Given the description of an element on the screen output the (x, y) to click on. 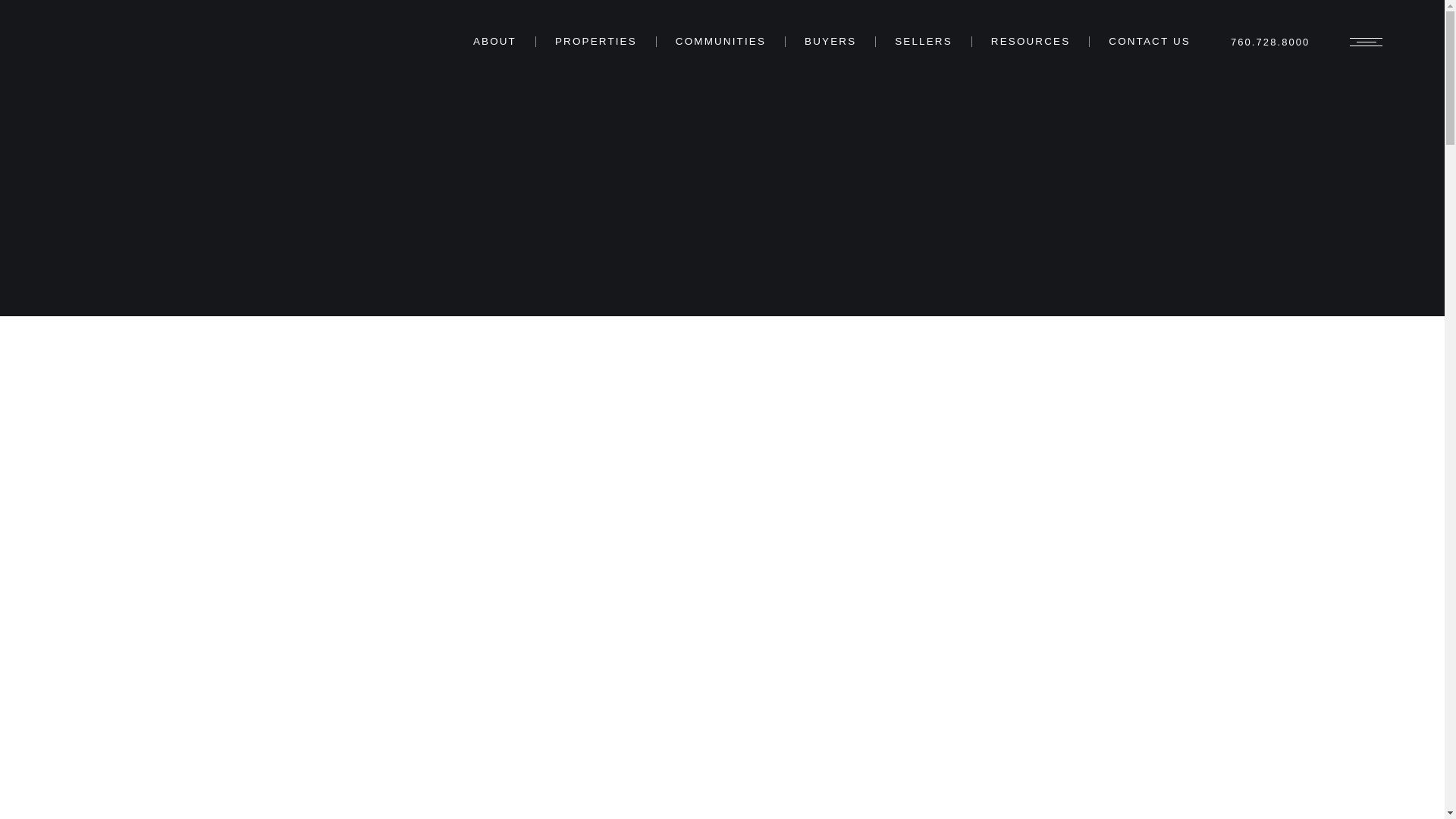
ABOUT (494, 40)
COMMUNITIES (720, 40)
PROPERTIES (595, 40)
